Given the description of an element on the screen output the (x, y) to click on. 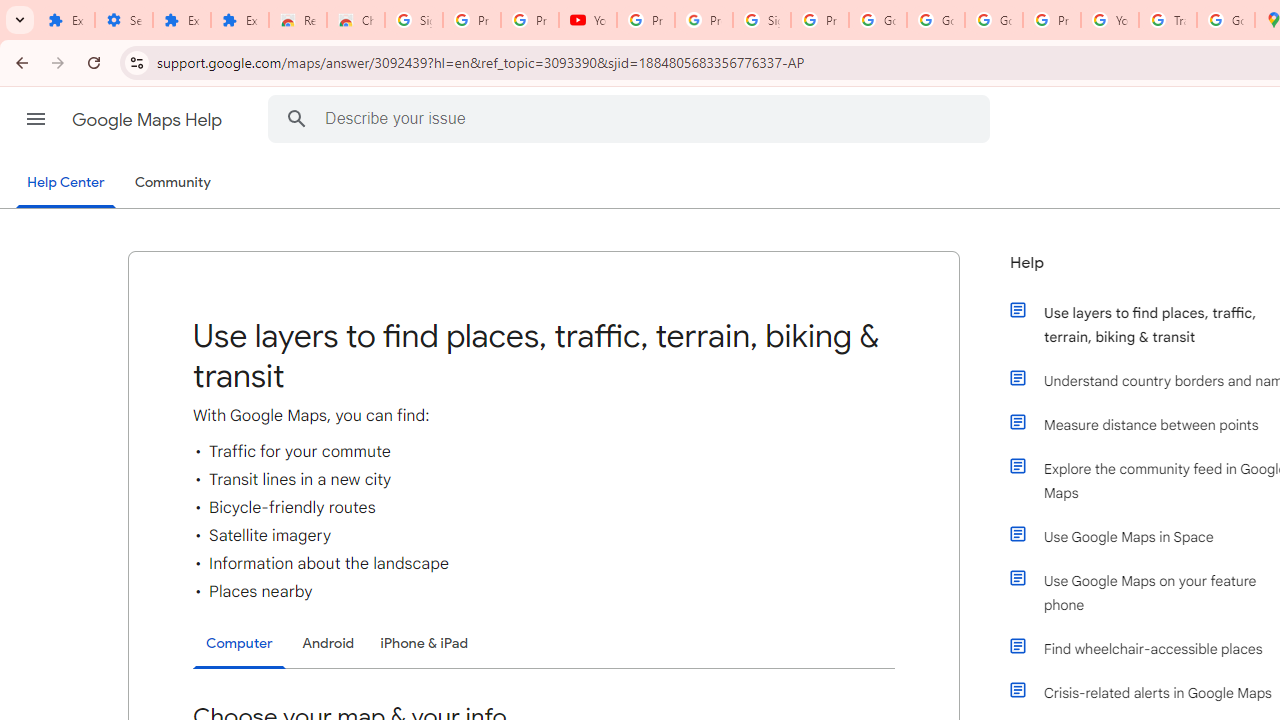
Search Help Center (297, 118)
Forward (57, 62)
Community (171, 183)
Main menu (35, 119)
Google Maps Help (148, 119)
Help Center (65, 183)
Computer (239, 643)
Google Account (936, 20)
Google Account (877, 20)
Settings (123, 20)
